Given the description of an element on the screen output the (x, y) to click on. 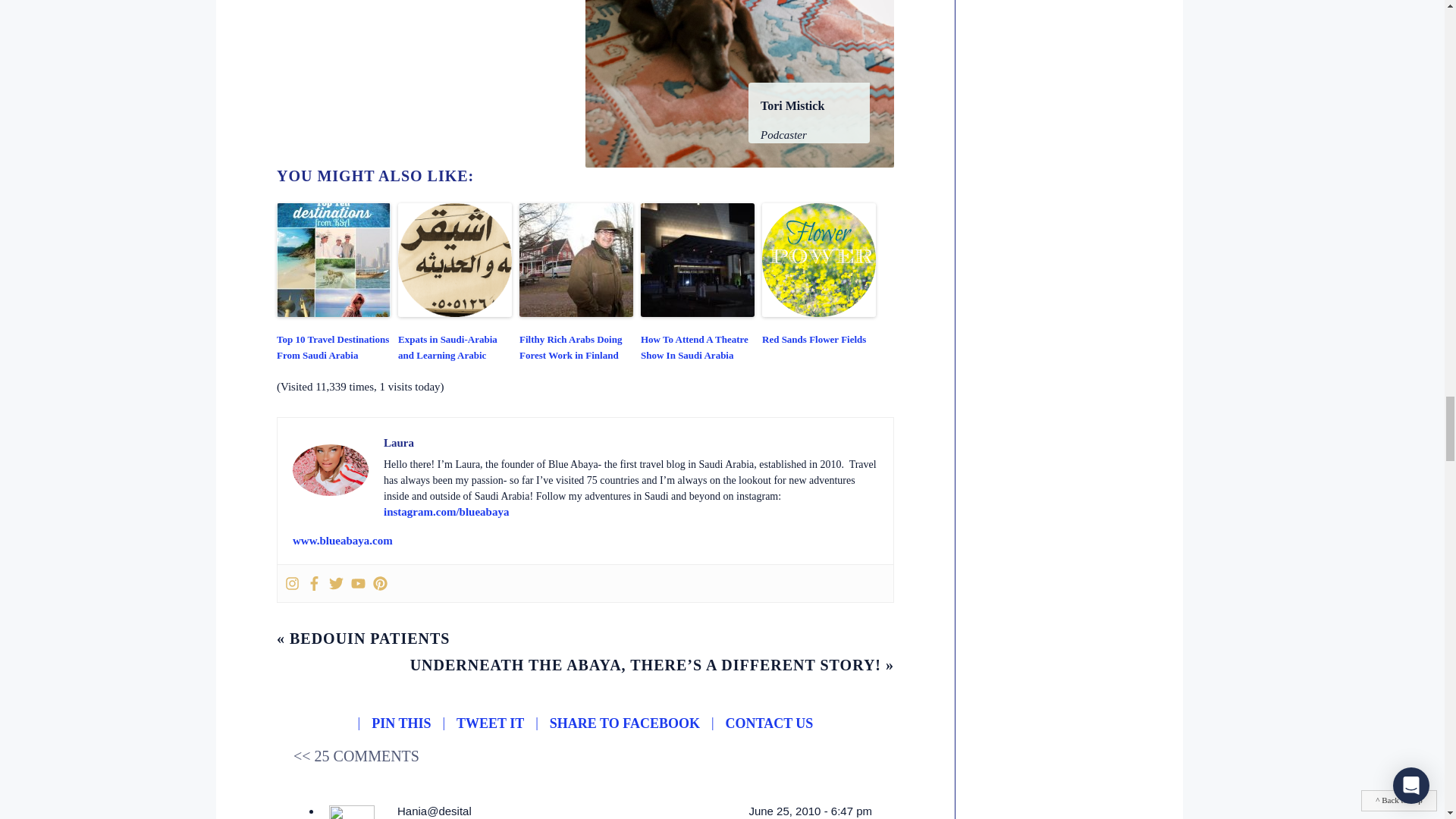
Twitter (336, 583)
Pinterest (379, 583)
Instagram (292, 583)
Youtube (357, 583)
Facebook (314, 583)
